Given the description of an element on the screen output the (x, y) to click on. 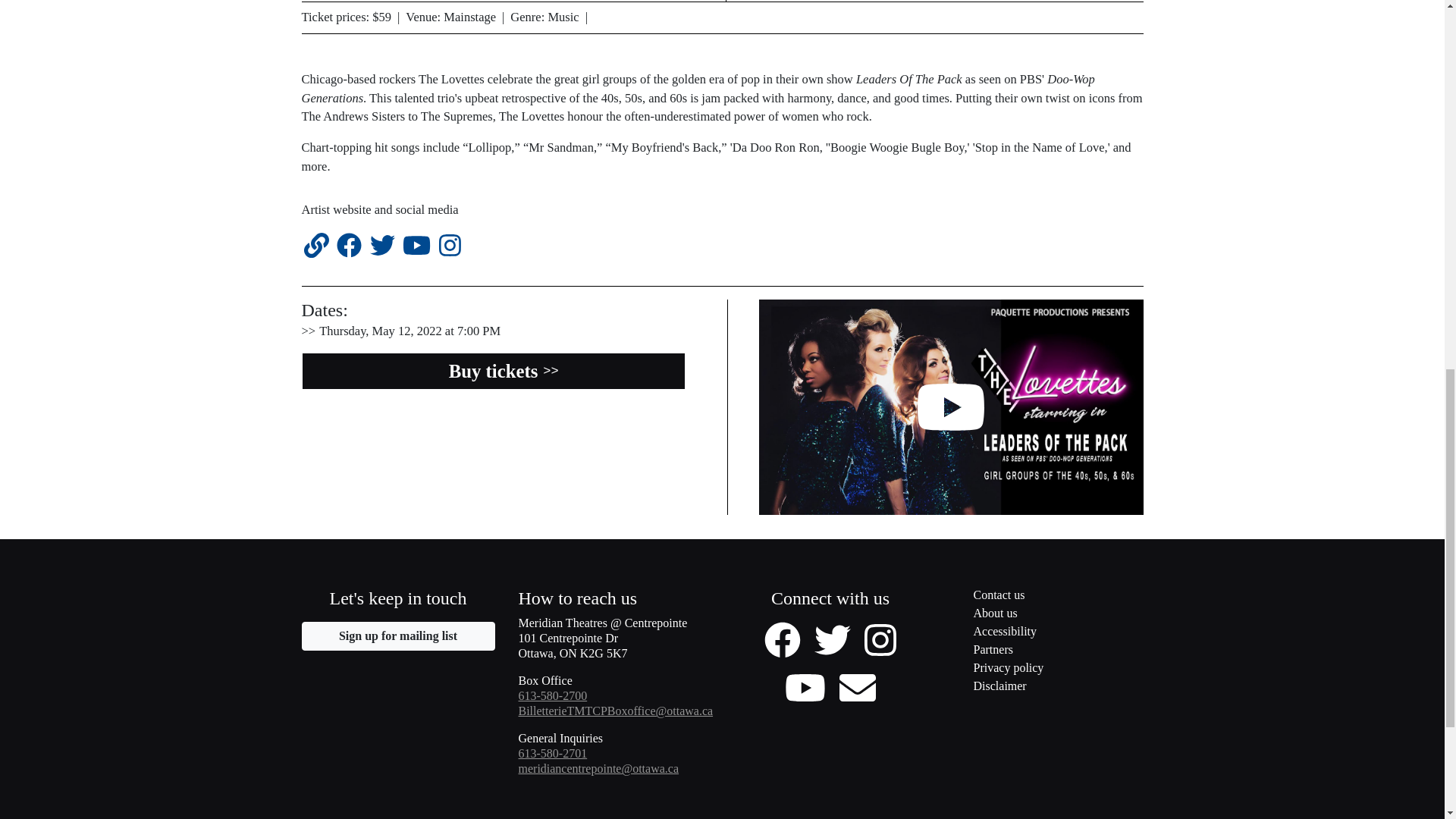
Opens a new window (879, 639)
Opens a new window (381, 245)
Opens a new window (398, 635)
Opens a new window (805, 687)
Accessibility (1046, 687)
613-580-2701 (1046, 633)
Opens a new window (553, 753)
Opens a new window (398, 635)
About us (316, 245)
613-580-2700 (416, 245)
Opens in a new window (1046, 615)
Opens a new window (553, 695)
